Given the description of an element on the screen output the (x, y) to click on. 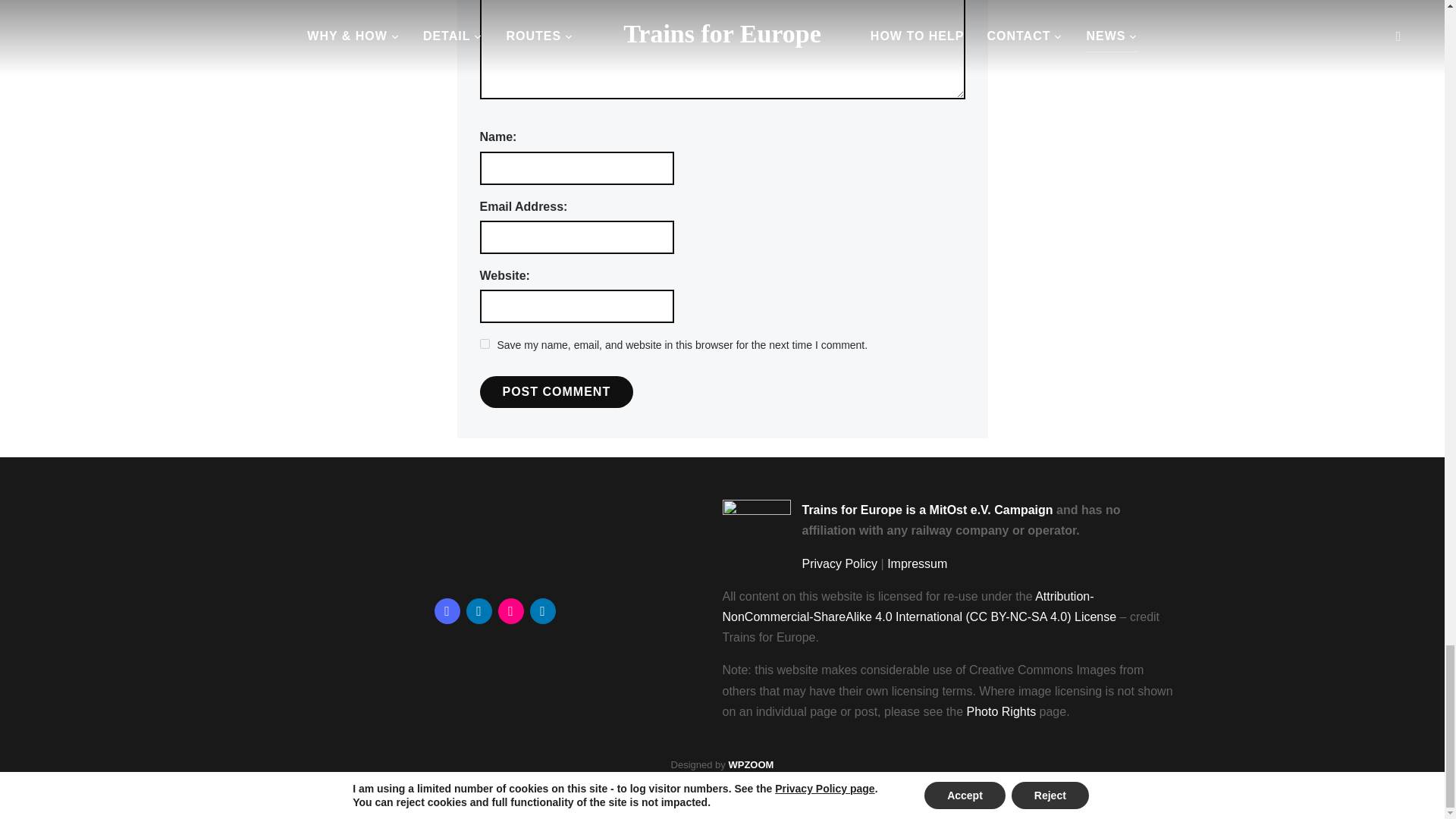
yes (484, 343)
Post Comment (556, 391)
